Given the description of an element on the screen output the (x, y) to click on. 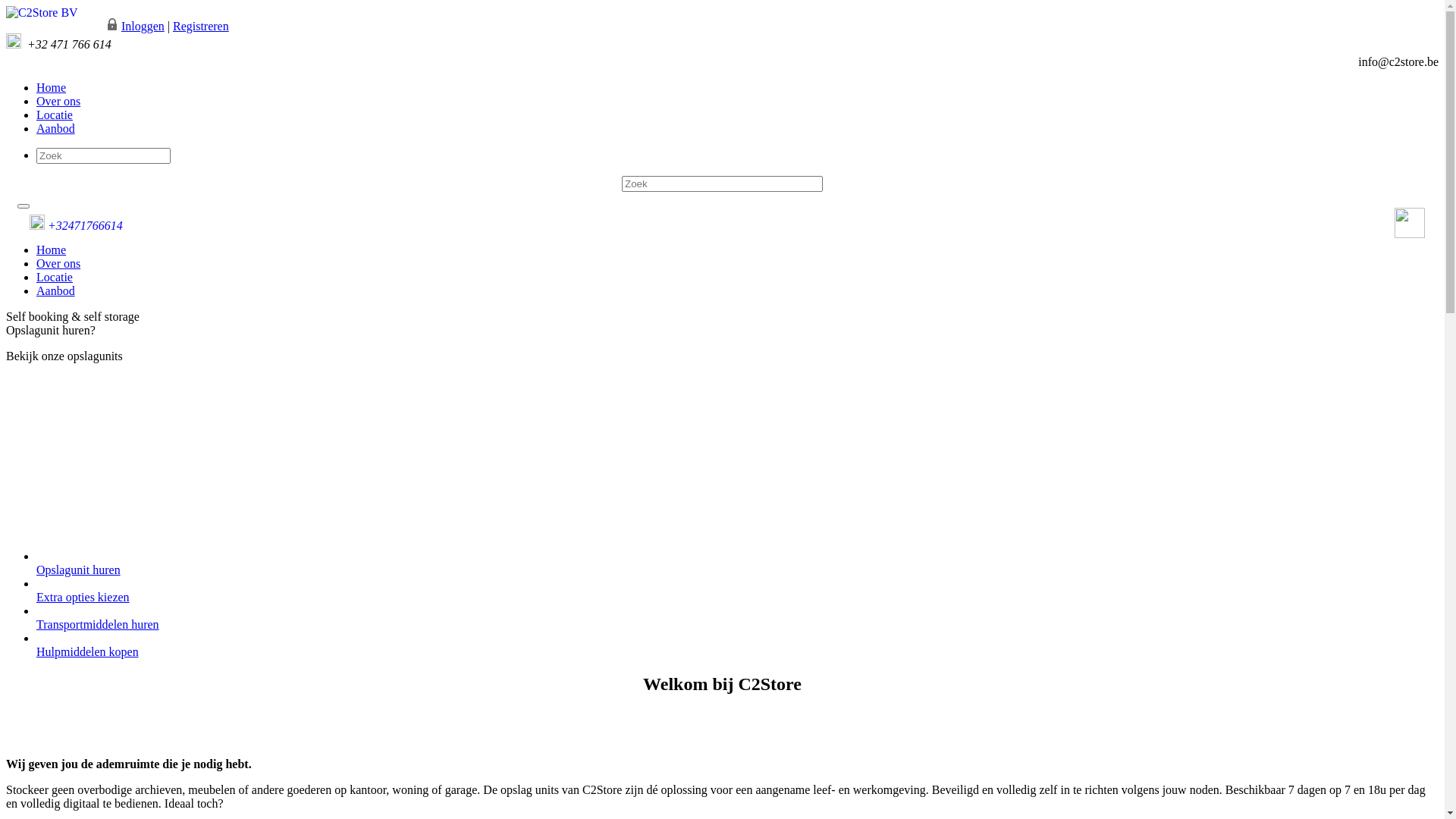
Over ons Element type: text (58, 263)
Winkelwagen (0) Element type: text (48, 25)
Aanbod Element type: text (55, 290)
Home Element type: text (50, 87)
Over ons Element type: text (58, 100)
Registreren Element type: text (200, 25)
Hulpmiddelen kopen Element type: text (87, 651)
Aanbod Element type: text (55, 128)
Inloggen Element type: text (142, 25)
Bekijk onze opslagunits Element type: text (722, 356)
Home Element type: text (50, 249)
Locatie Element type: text (54, 276)
Opslagunit huren Element type: text (78, 569)
Zoek Element type: text (17, 7)
Transportmiddelen huren Element type: text (97, 624)
Locatie Element type: text (54, 114)
Extra opties kiezen Element type: text (82, 596)
